Given the description of an element on the screen output the (x, y) to click on. 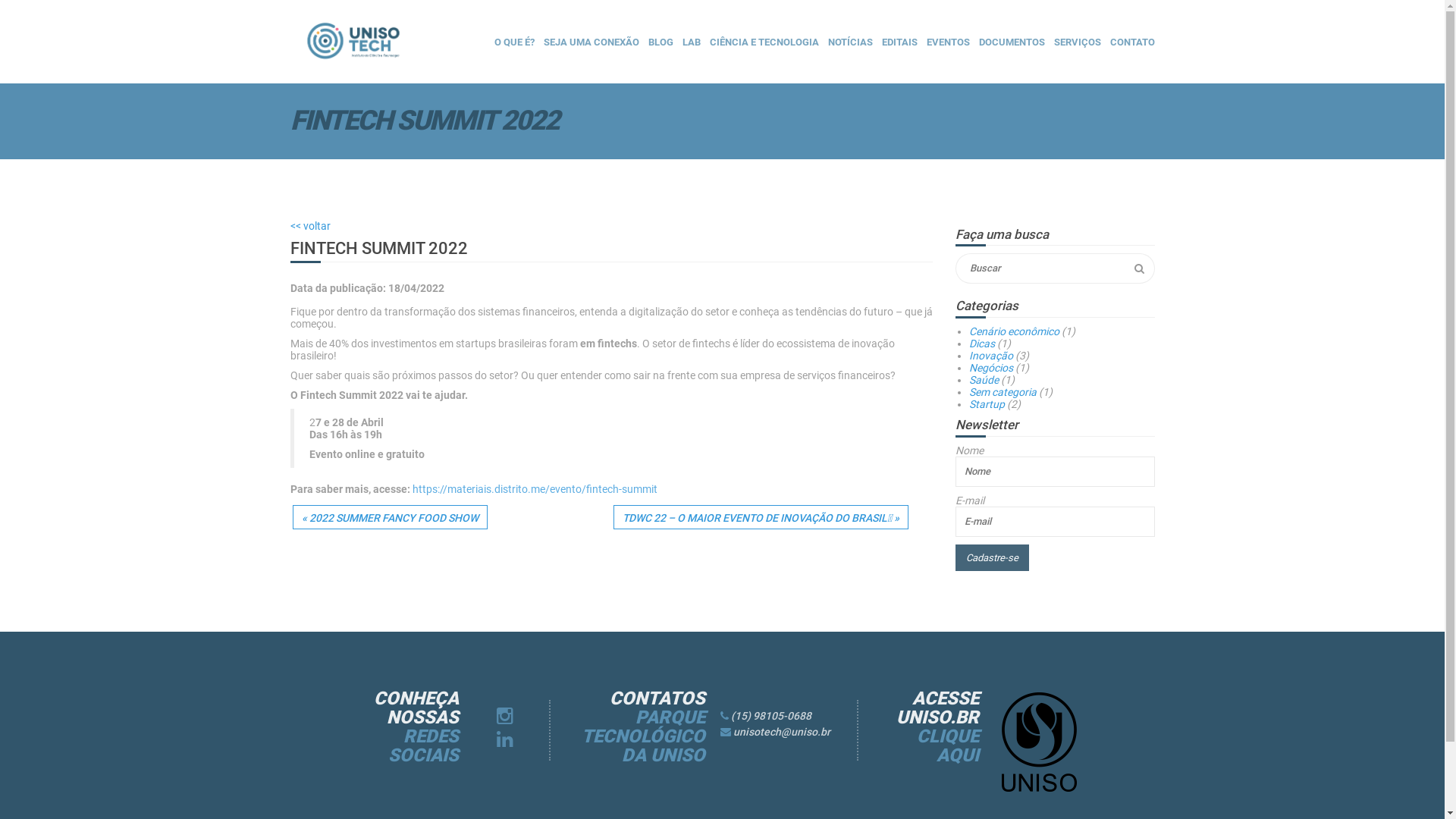
 (15) 98105-0688 Element type: text (769, 715)
ACESSE
UNISO.BR
CLIQUE
AQUI Element type: text (930, 727)
EDITAIS Element type: text (898, 41)
LAB Element type: text (691, 41)
Startup Element type: text (986, 404)
 unisotech@uniso.br Element type: text (780, 731)
https://materiais.distrito.me/evento/fintech-summit Element type: text (534, 489)
<< voltar Element type: text (309, 225)
BLOG Element type: text (659, 41)
EVENTOS Element type: text (947, 41)
Dicas Element type: text (981, 343)
Cadastre-se Element type: text (992, 557)
DOCUMENTOS Element type: text (1011, 41)
Sem categoria Element type: text (1002, 391)
CONTATO Element type: text (1132, 41)
